Given the description of an element on the screen output the (x, y) to click on. 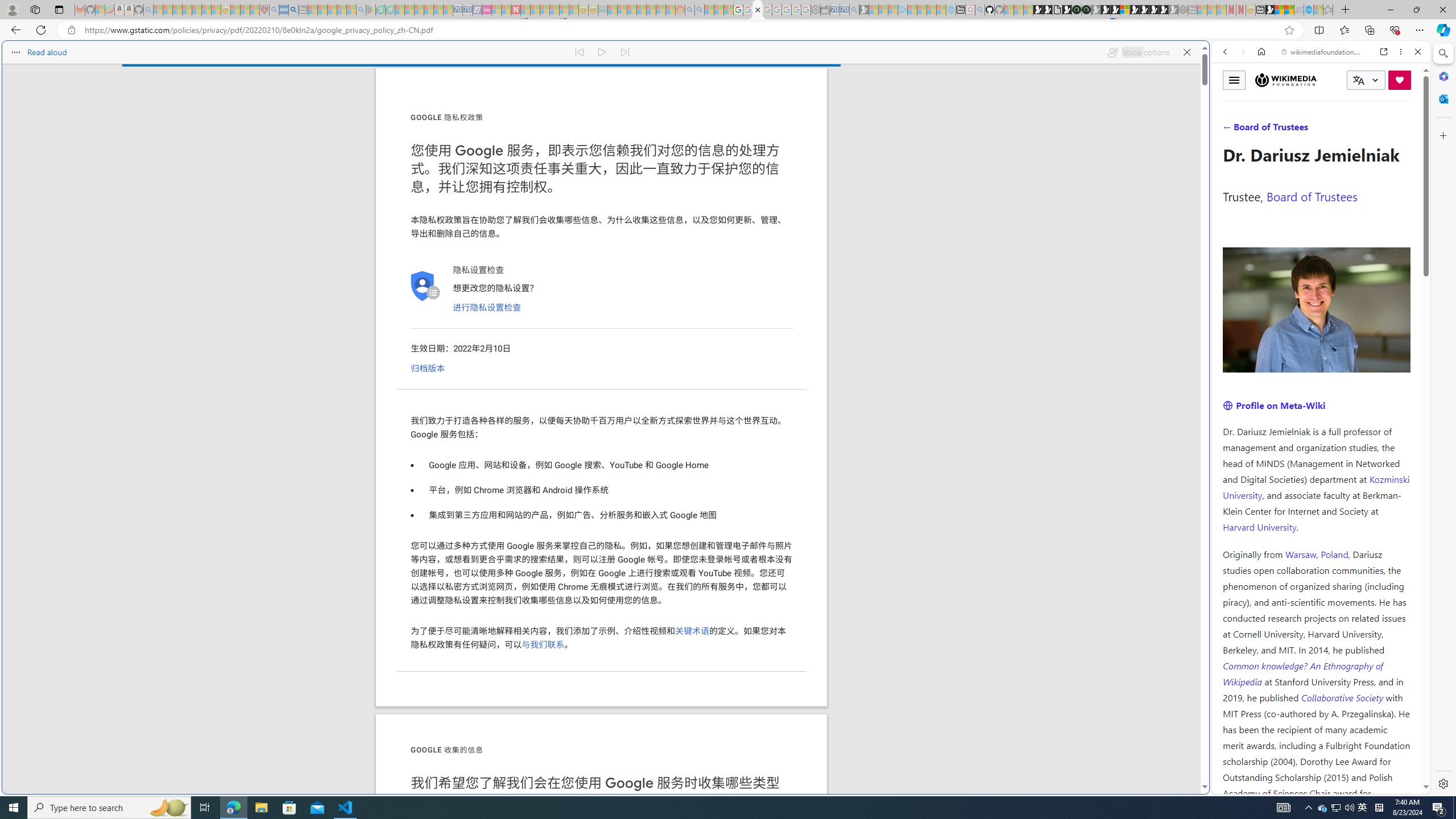
Wiktionary (1315, 380)
Search Filter, Search Tools (1350, 129)
Donate now (1399, 80)
Jobs - lastminute.com Investor Portal - Sleeping (486, 9)
